Given the description of an element on the screen output the (x, y) to click on. 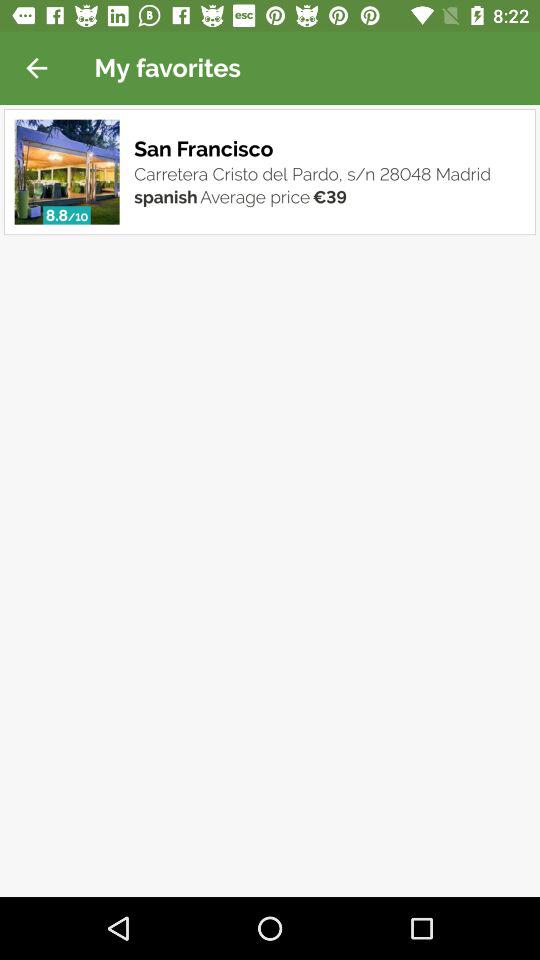
turn on the item below carretera cristo del (329, 197)
